Given the description of an element on the screen output the (x, y) to click on. 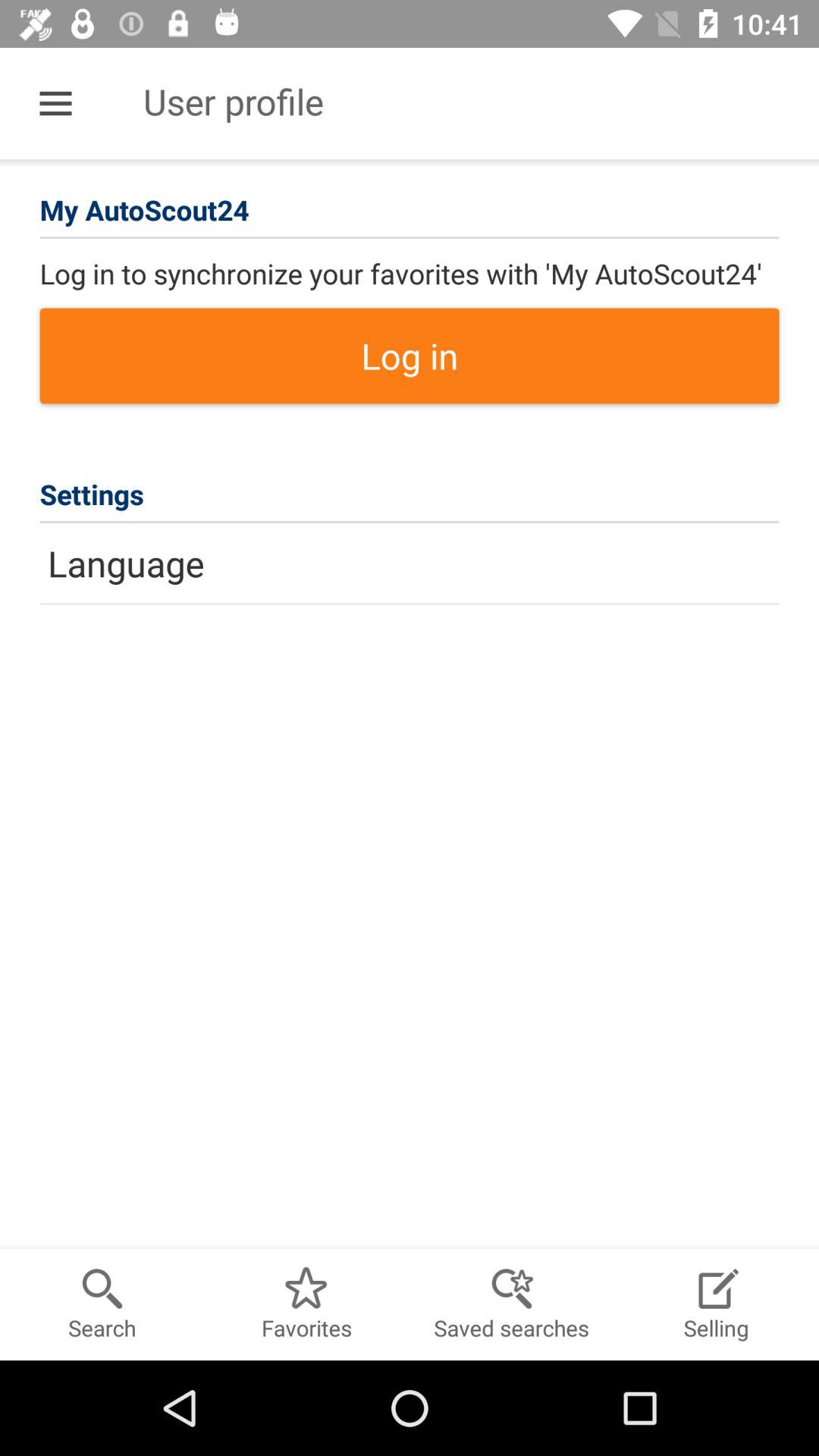
turn off the item to the left of user profile item (55, 103)
